Given the description of an element on the screen output the (x, y) to click on. 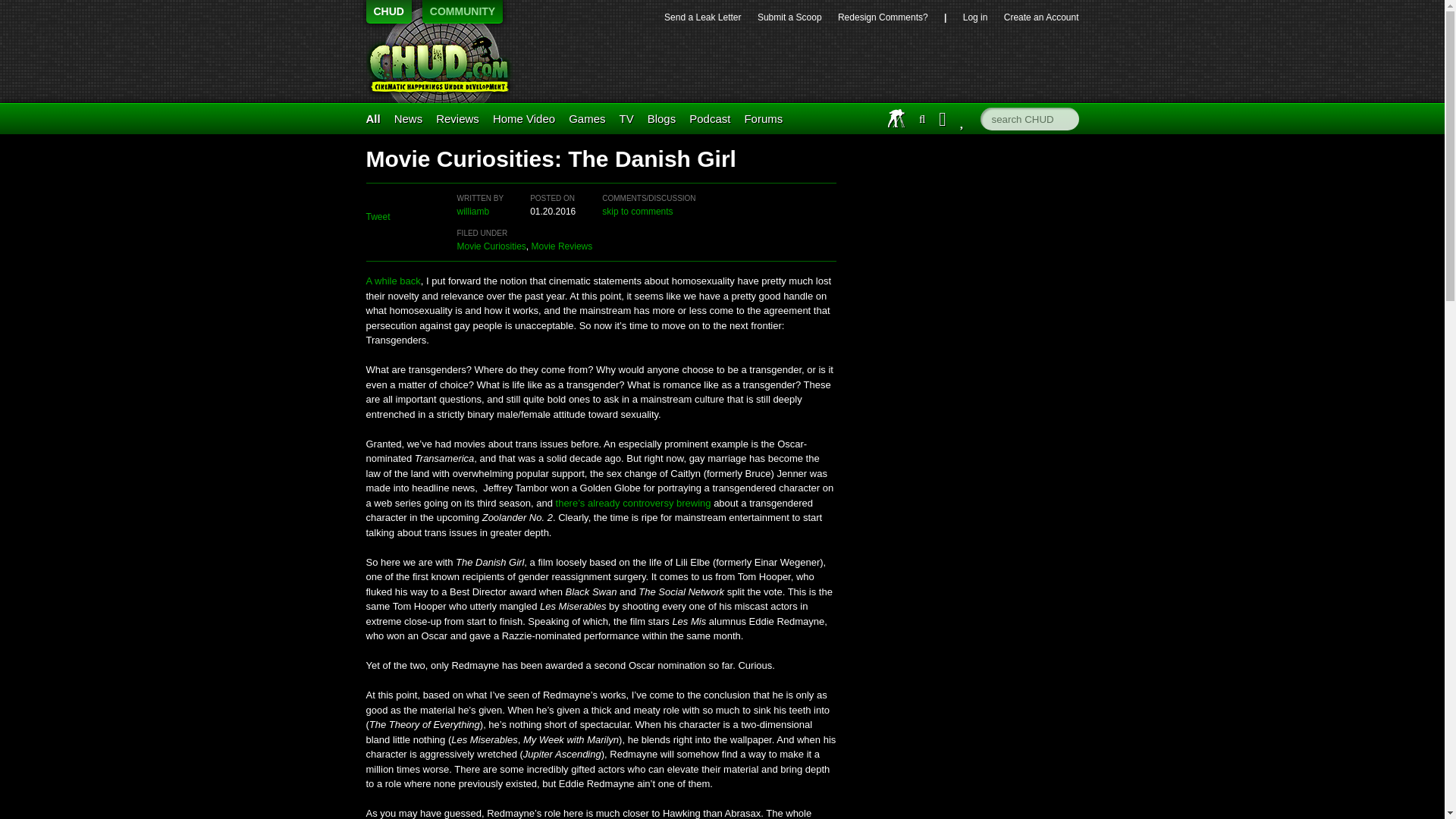
Visit CHUD on Twitter (962, 118)
Blogs (662, 118)
Visit CHUD on Facebook (942, 118)
COMMUNITY (462, 11)
TV (626, 118)
International Academy of Film and Television (896, 117)
Redesign Comments? (883, 17)
Games (587, 118)
Forums (763, 118)
Submit a Scoop (789, 17)
Reviews (457, 118)
Home Video (523, 118)
Movie Curiosities (491, 245)
News (408, 118)
Tweet (377, 216)
